Given the description of an element on the screen output the (x, y) to click on. 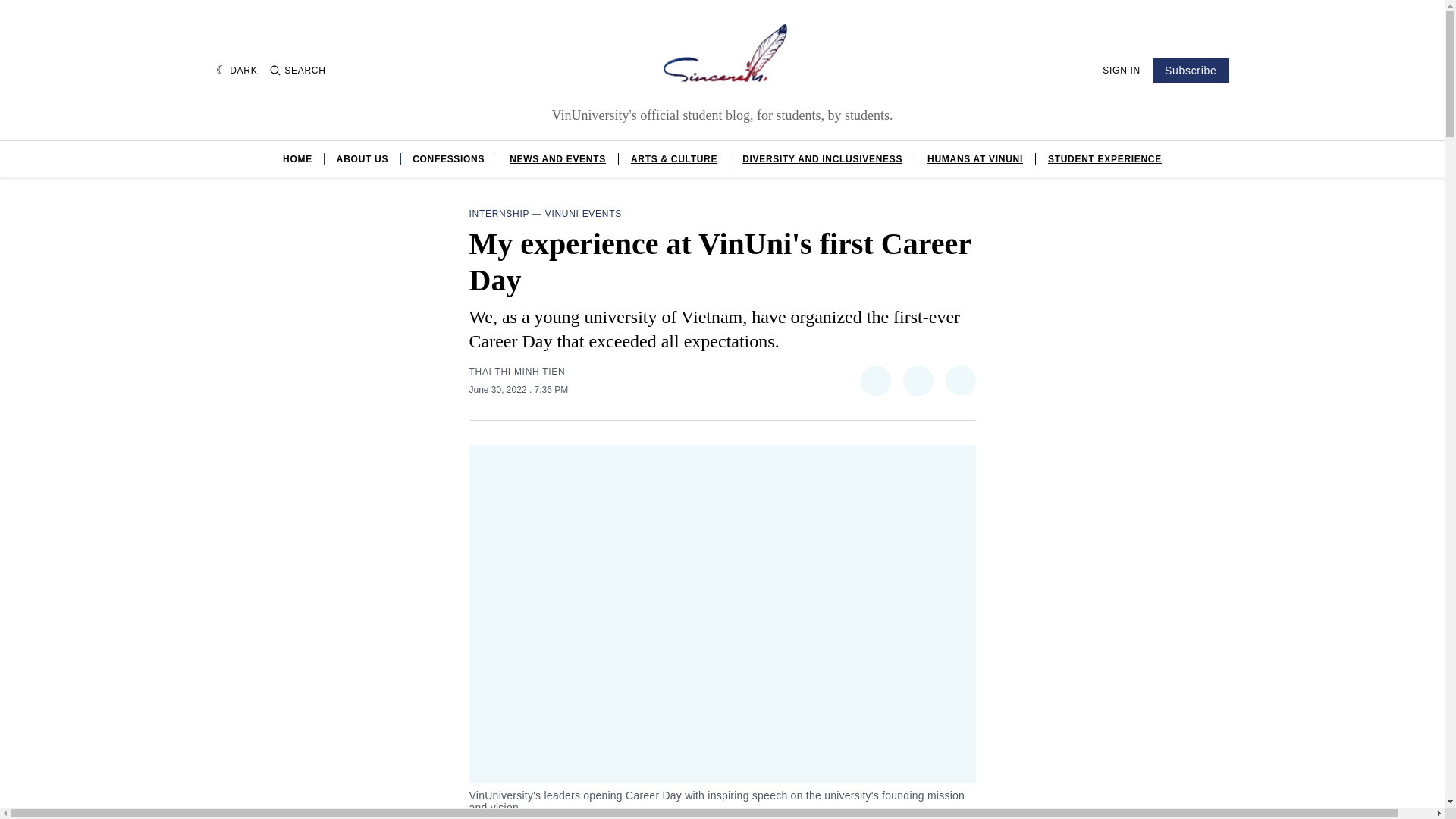
CONFESSIONS (448, 159)
HOME (297, 159)
DARK (236, 70)
VINUNI EVENTS (582, 213)
HUMANS AT VINUNI (975, 159)
Share on Facebook (874, 380)
INTERNSHIP (498, 213)
SEARCH (296, 70)
Dark (236, 70)
Share on LinkedIn (917, 380)
